Given the description of an element on the screen output the (x, y) to click on. 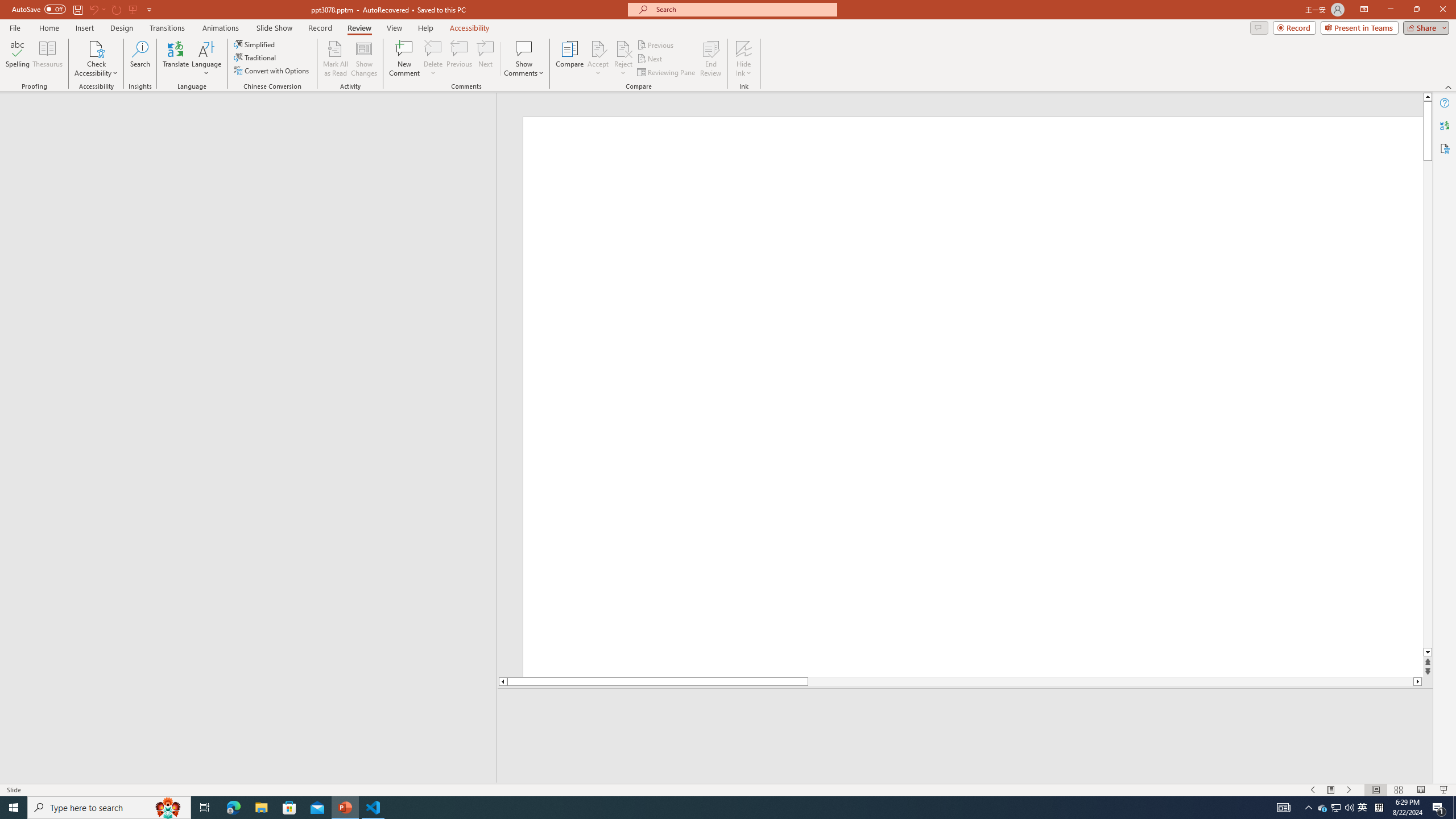
Thesaurus... (47, 58)
Convert with Options... (272, 69)
Accept (598, 58)
Microsoft search (742, 9)
Reject Change (622, 48)
Simplified (254, 44)
Outline (252, 114)
